Given the description of an element on the screen output the (x, y) to click on. 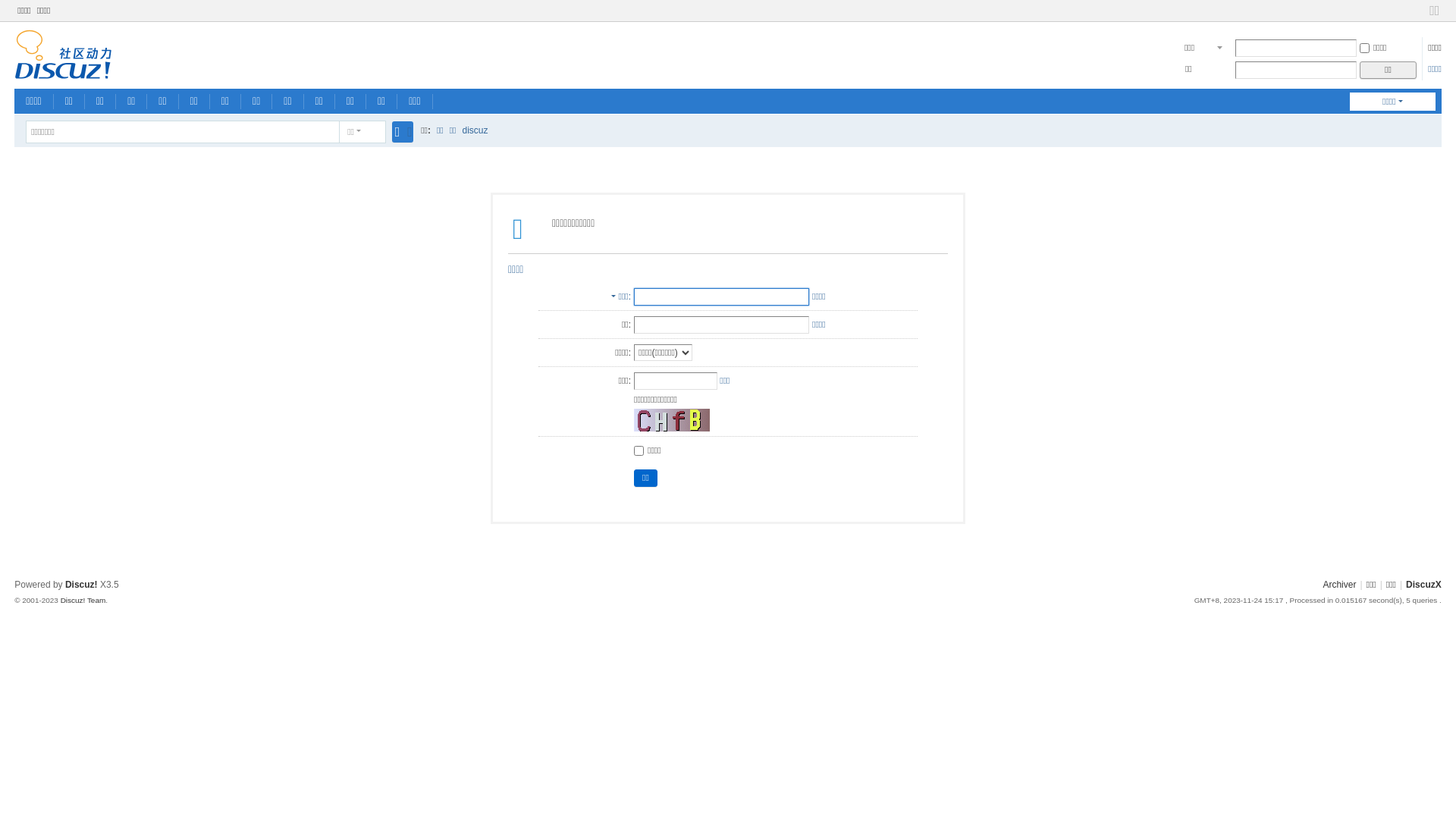
Archiver Element type: text (1338, 584)
Discuz! Board Element type: hover (63, 72)
discuz Element type: text (475, 130)
DiscuzX Element type: text (1423, 584)
Discuz! Team Element type: text (83, 600)
Discuz! Element type: text (81, 584)
